Given the description of an element on the screen output the (x, y) to click on. 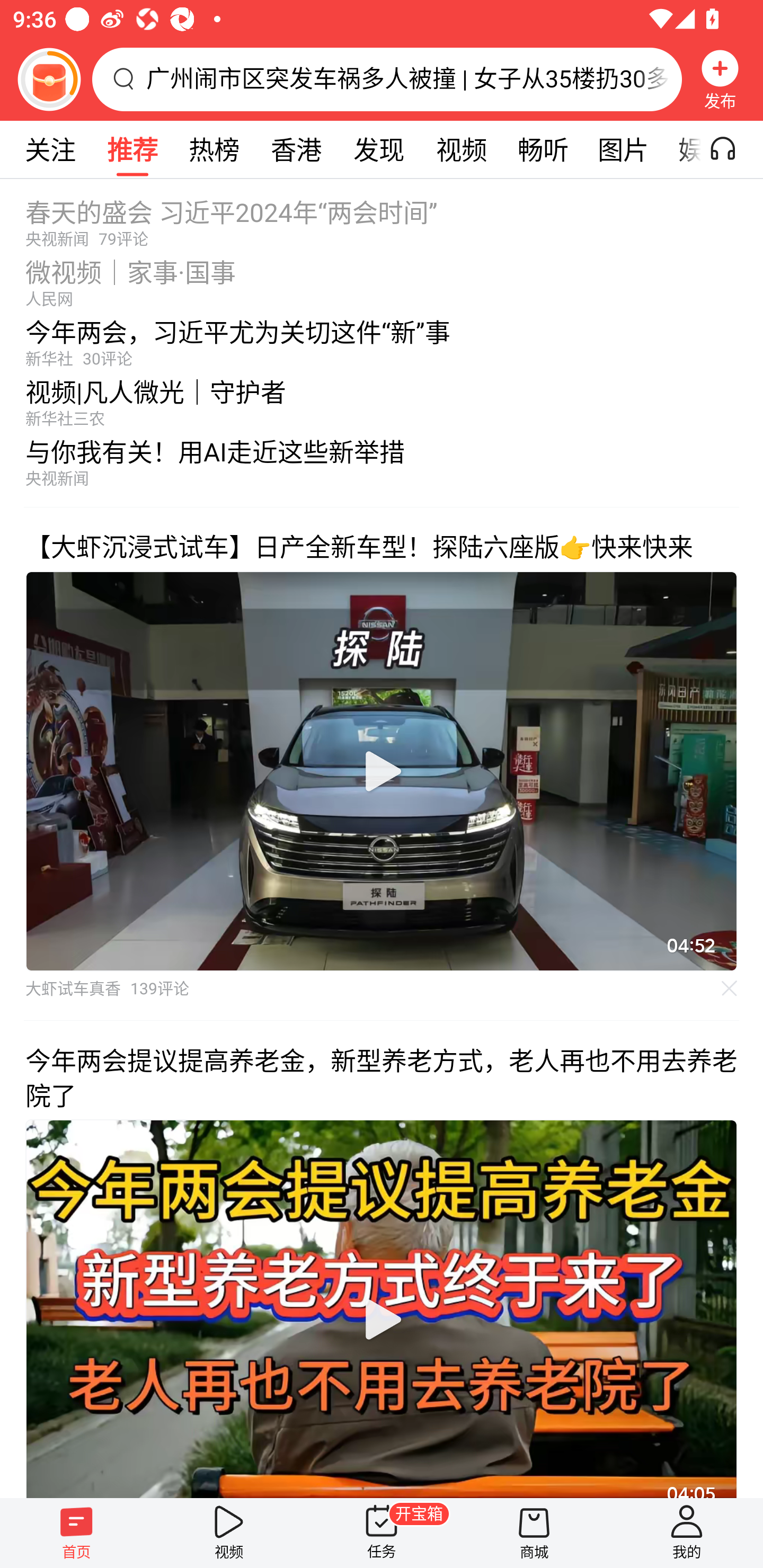
阅读赚金币 (48, 79)
发布 发布，按钮 (720, 78)
关注 (50, 149)
推荐 (132, 149)
热榜 (213, 149)
香港 (295, 149)
发现 (378, 149)
视频 (461, 149)
畅听 (542, 149)
图片 (623, 149)
听一听开关 (732, 149)
微视频｜家事·国事人民网 视频 微视频｜家事·国事 人民网 (381, 277)
视频|凡人微光｜守护者新华社三农 文章 视频|凡人微光｜守护者 新华社三农 (381, 398)
与你我有关！用AI走近这些新举措央视新闻 文章 与你我有关！用AI走近这些新举措 央视新闻 (381, 467)
播放视频 视频播放器，双击屏幕打开播放控制 (381, 771)
播放视频 (381, 771)
不感兴趣 (729, 987)
播放视频 视频播放器，双击屏幕打开播放控制 (381, 1308)
播放视频 (381, 1319)
首页 (76, 1532)
视频 (228, 1532)
任务 开宝箱 (381, 1532)
商城 (533, 1532)
我的 (686, 1532)
